Given the description of an element on the screen output the (x, y) to click on. 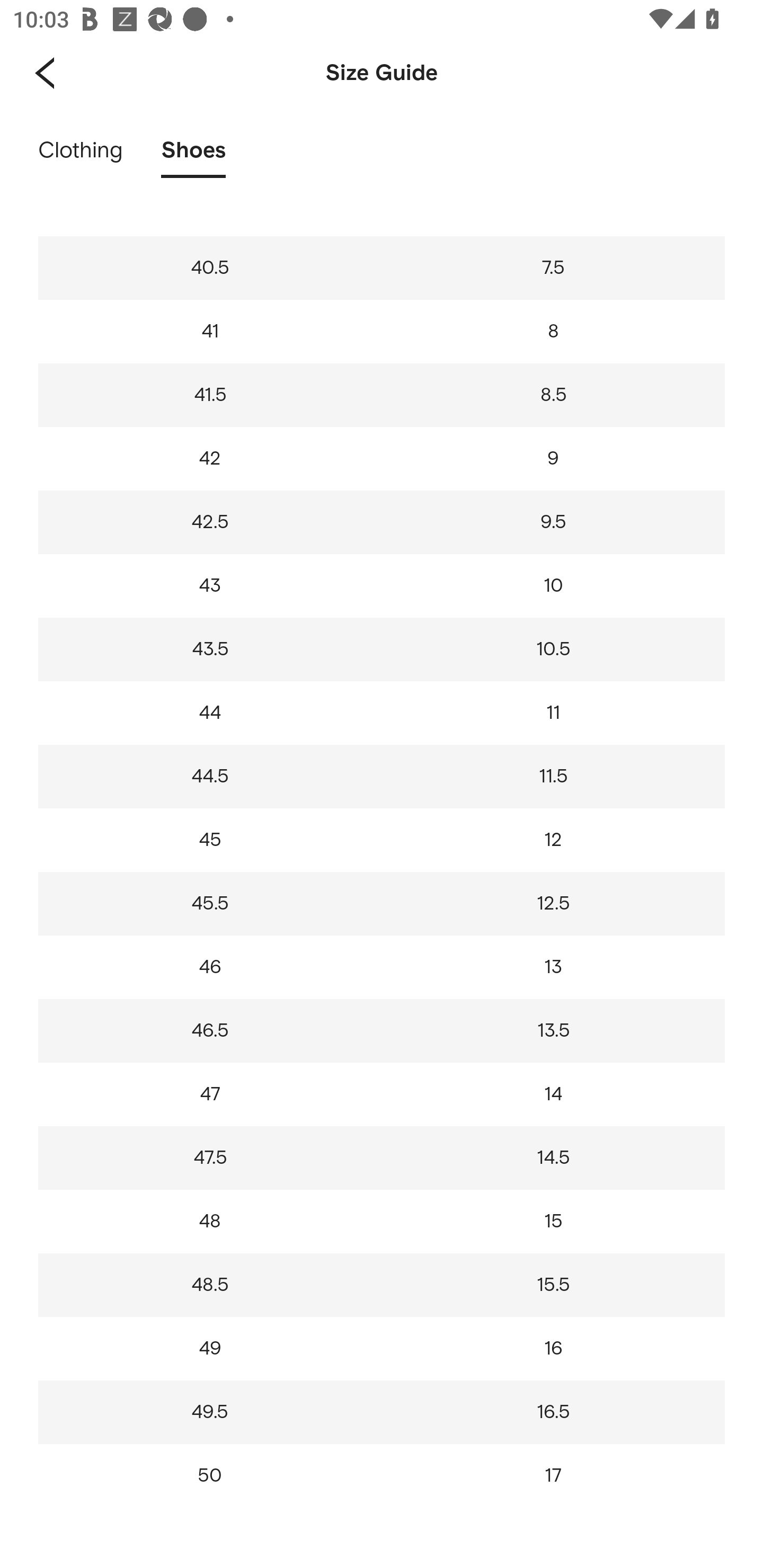
Clothing (80, 155)
Shoes (192, 155)
